Given the description of an element on the screen output the (x, y) to click on. 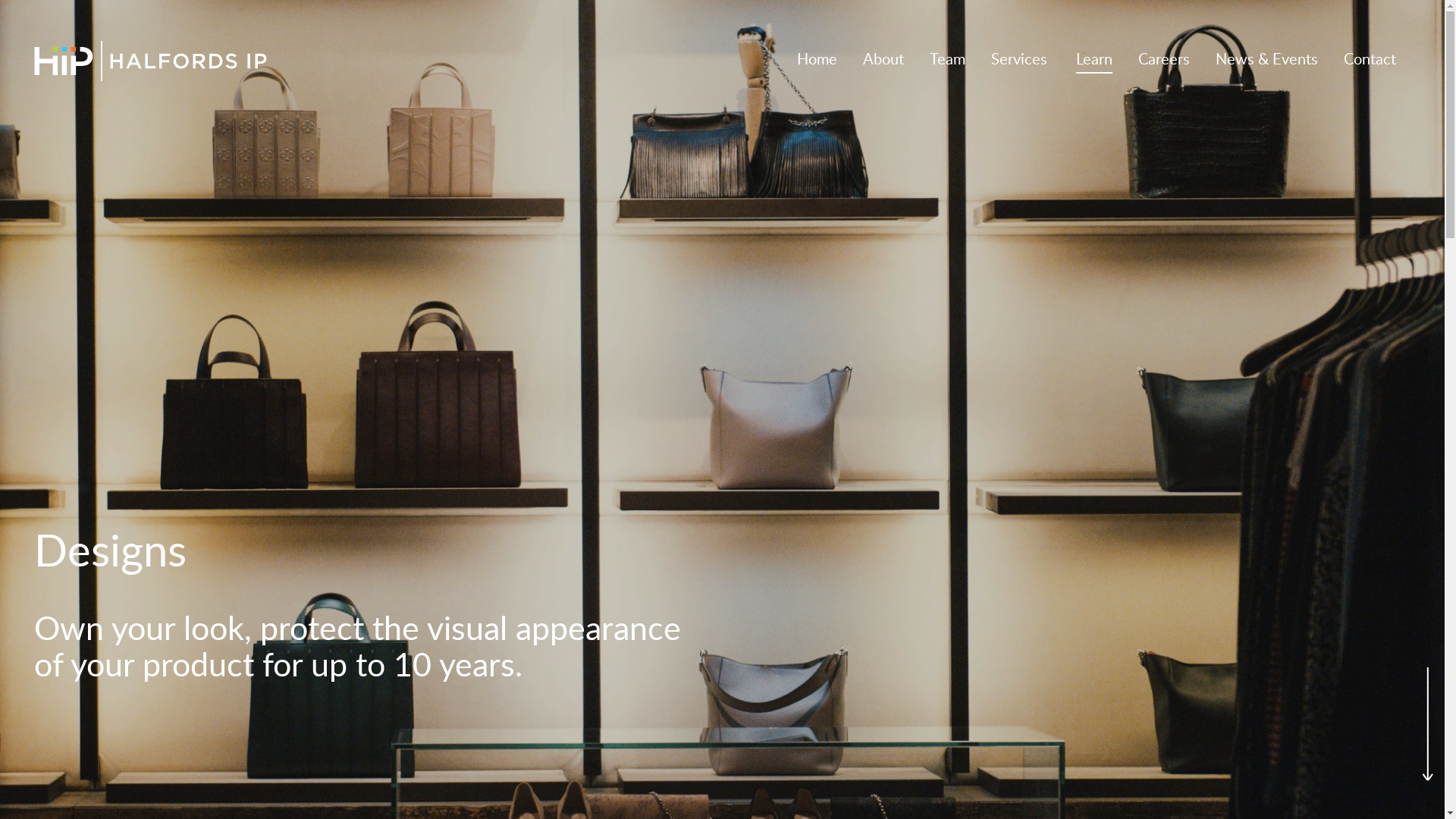
Careers Element type: text (1163, 60)
Home Element type: text (817, 60)
Services Element type: text (1019, 60)
News & Events Element type: text (1266, 60)
Contact Element type: text (1369, 60)
About Element type: text (882, 60)
Learn Element type: text (1094, 60)
Team Element type: text (947, 60)
